Given the description of an element on the screen output the (x, y) to click on. 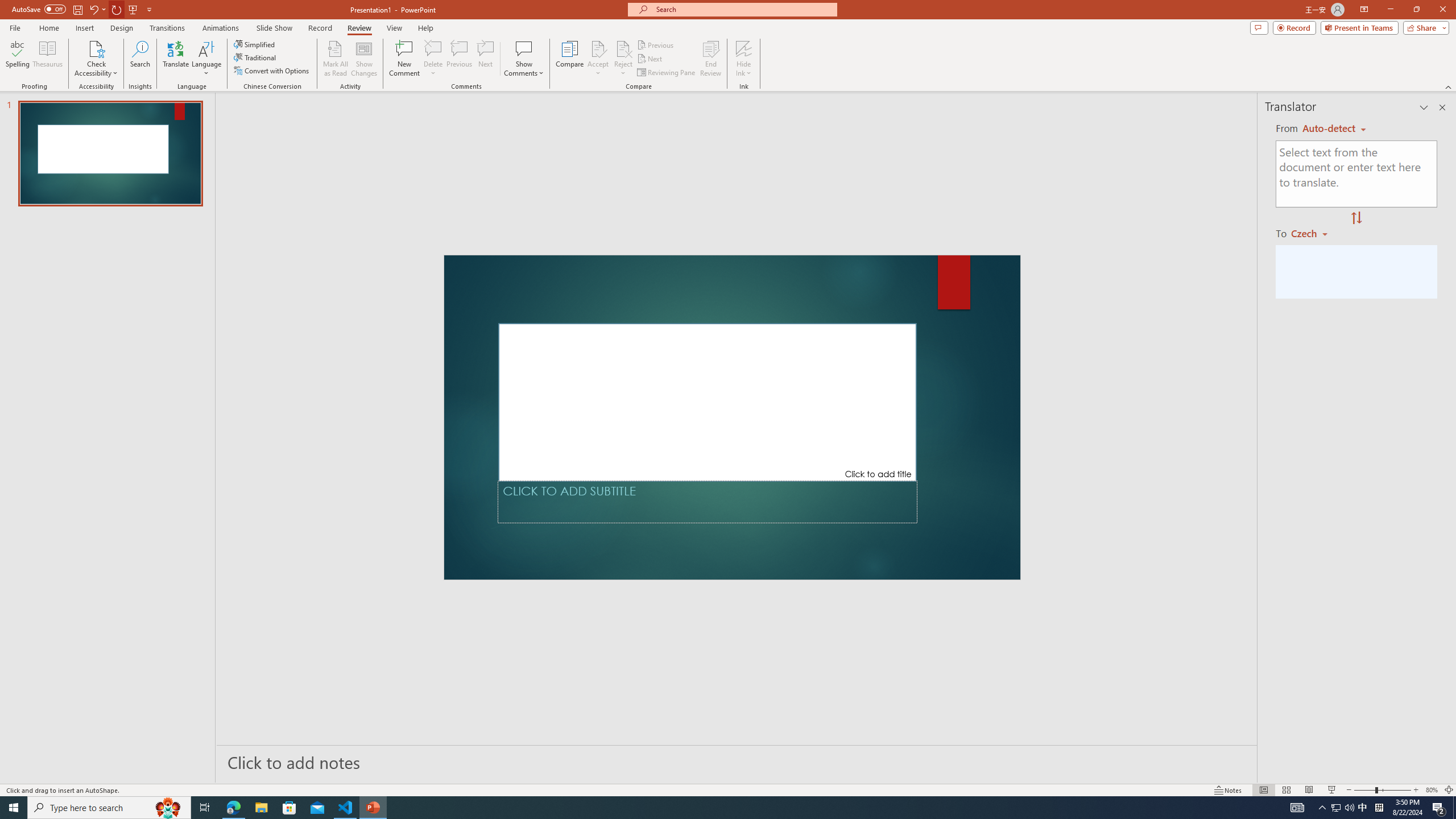
Mark All as Read (335, 58)
Next (649, 58)
Traditional (255, 56)
Reviewing Pane (666, 72)
Thesaurus... (47, 58)
